Given the description of an element on the screen output the (x, y) to click on. 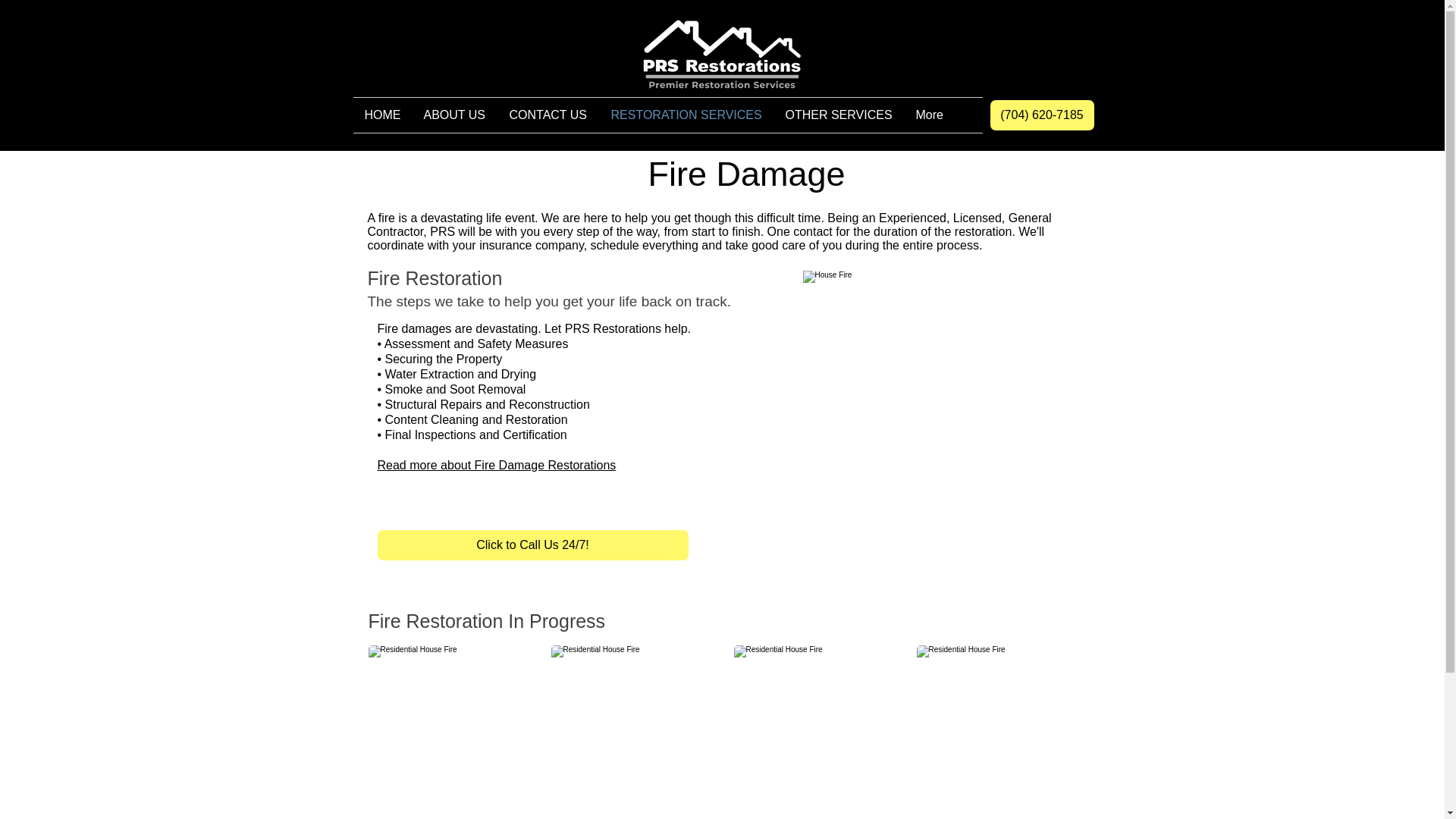
ABOUT US (454, 114)
OTHER SERVICES (838, 114)
CONTACT US (547, 114)
PRS Restorations Home (722, 54)
PRS Restorations Fire Damage Restoration (925, 394)
HOME (382, 114)
Read more about Fire Damage Restorations (496, 464)
RESTORATION SERVICES (685, 114)
